Given the description of an element on the screen output the (x, y) to click on. 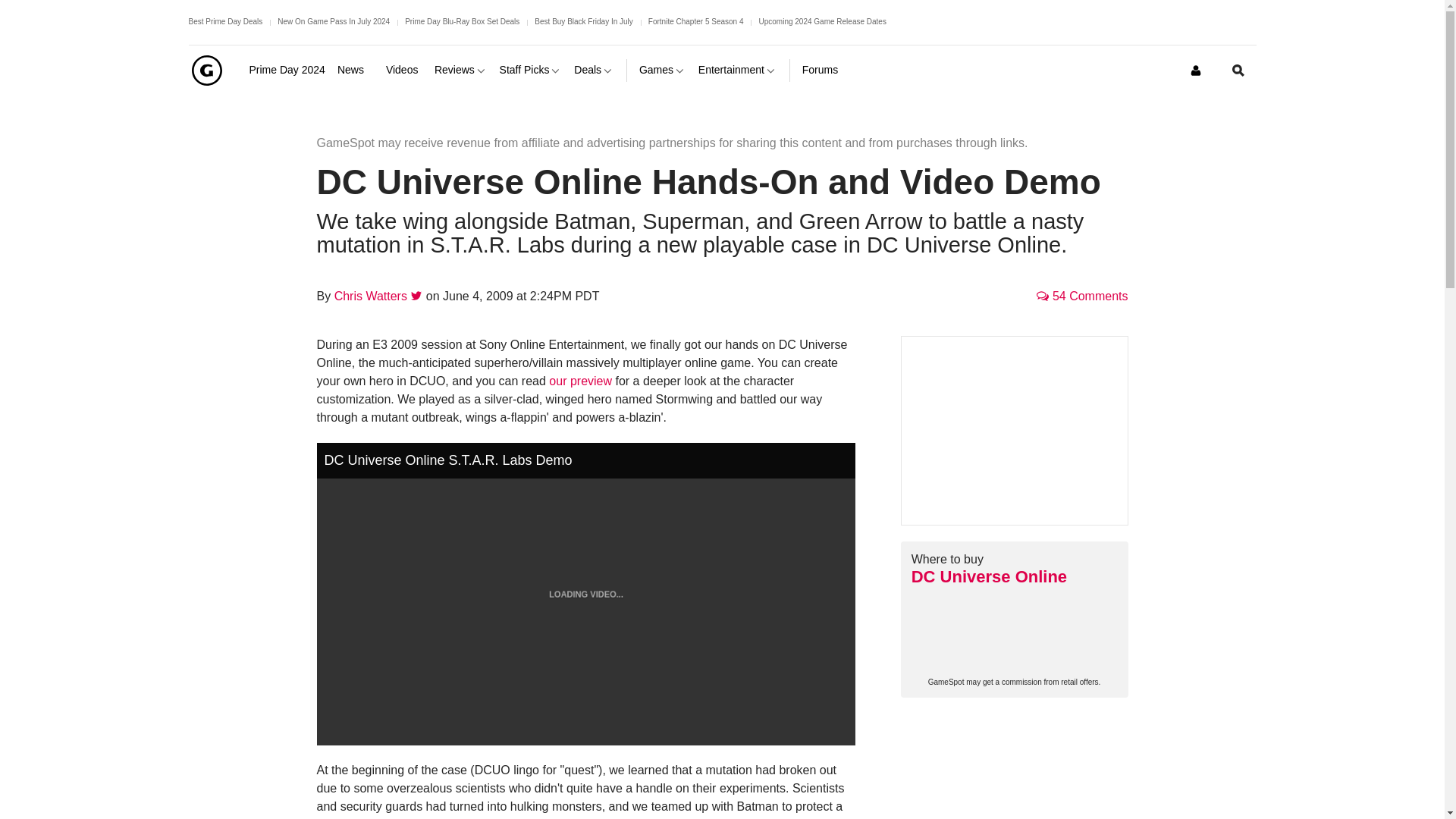
GameSpot (205, 70)
Prime Day 2024 (286, 70)
Fortnite Chapter 5 Season 4 (695, 21)
Best Buy Black Friday In July (583, 21)
Reviews (460, 70)
Deals (593, 70)
Upcoming 2024 Game Release Dates (821, 21)
Staff Picks (530, 70)
Best Prime Day Deals (224, 21)
Prime Day Blu-Ray Box Set Deals (461, 21)
Videos (403, 70)
News (355, 70)
Games (662, 70)
New On Game Pass In July 2024 (334, 21)
